Given the description of an element on the screen output the (x, y) to click on. 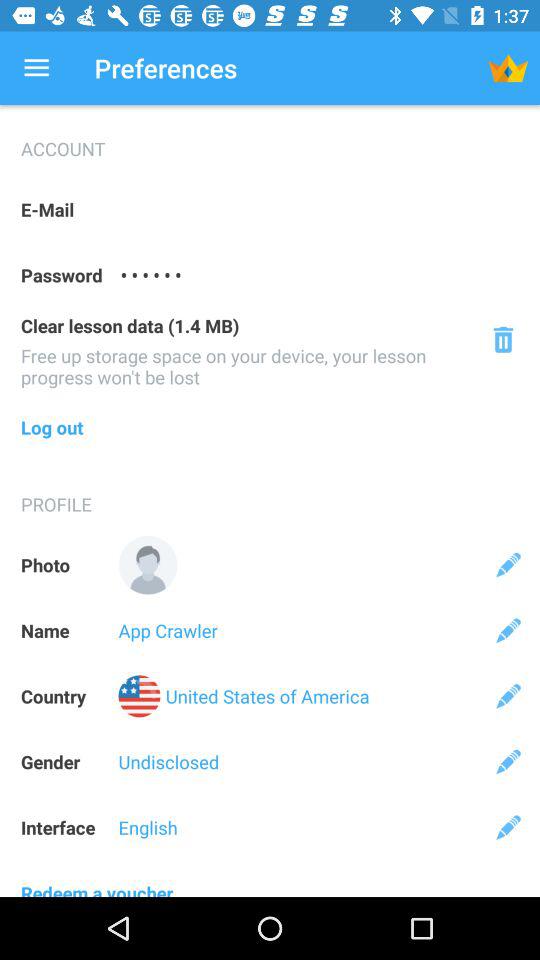
edit item (508, 564)
